Given the description of an element on the screen output the (x, y) to click on. 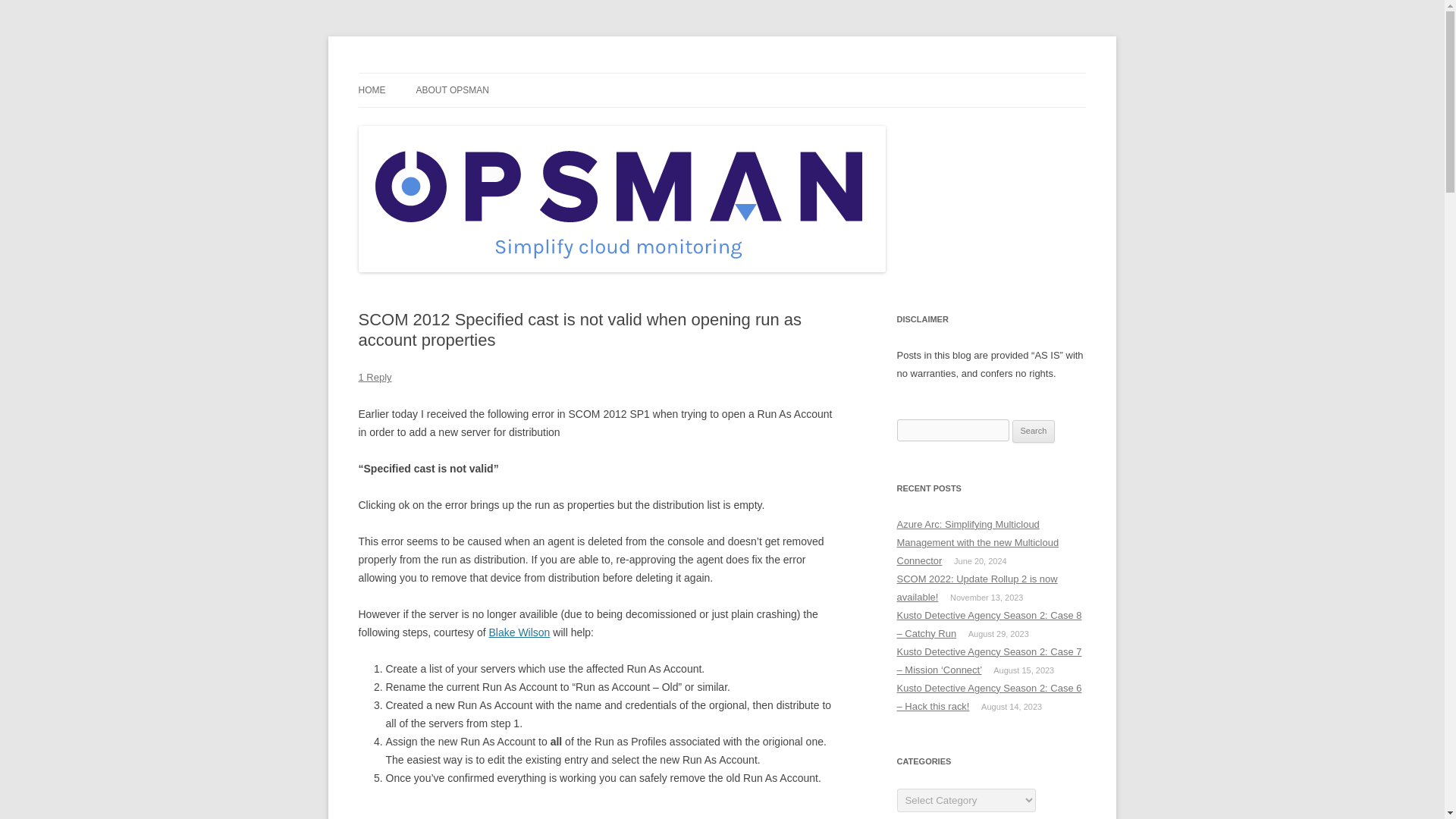
ABOUT OPSMAN (450, 90)
Blake Wilson (518, 632)
SCOM 2022: Update Rollup 2 is now available! (976, 587)
Blake Wilson (518, 632)
Search (1033, 431)
Search (1033, 431)
1 Reply (374, 377)
OpsMan (396, 72)
